Given the description of an element on the screen output the (x, y) to click on. 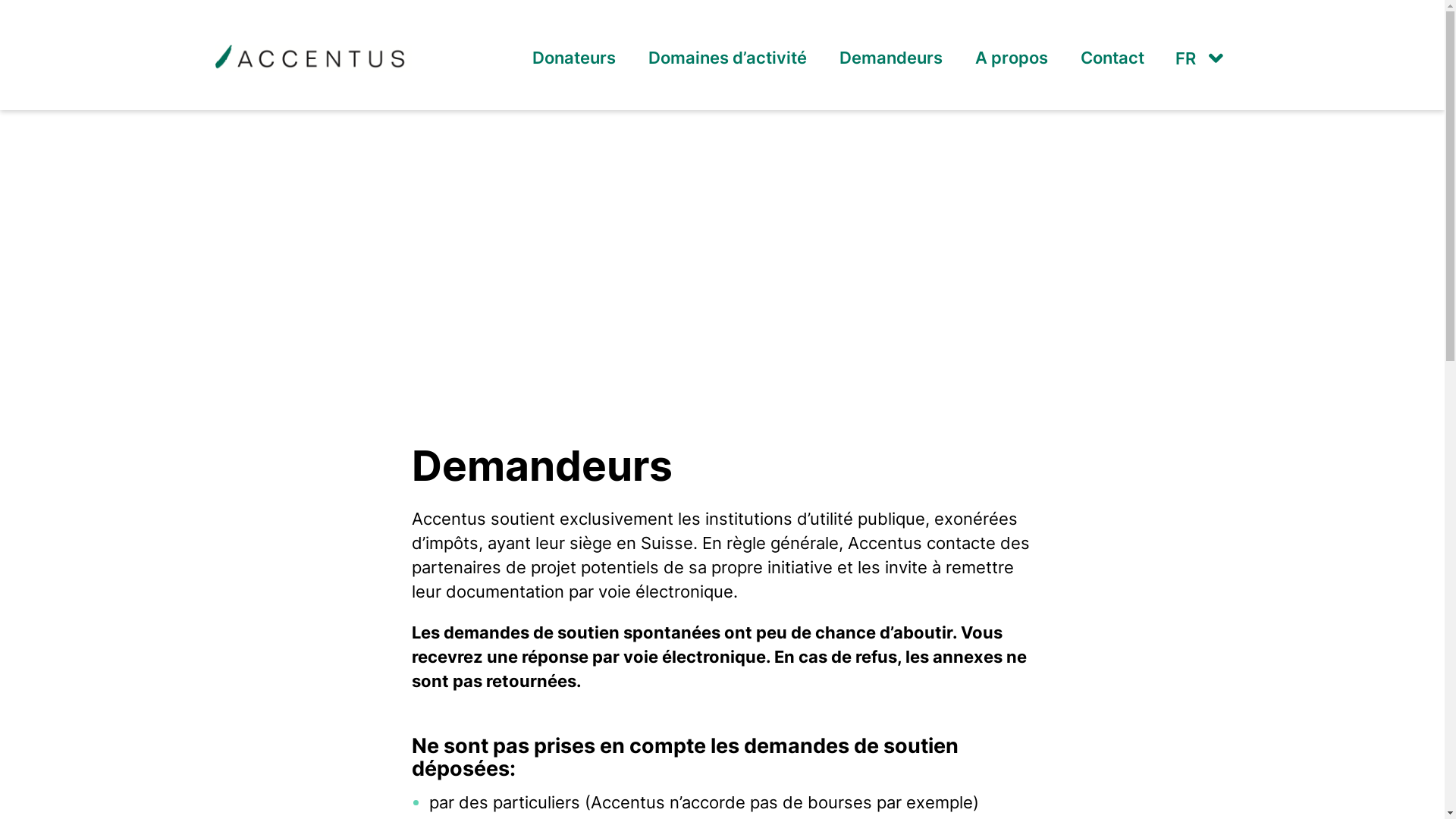
Demandeurs Element type: text (889, 57)
A propos Element type: text (1011, 57)
Contact Element type: text (1111, 57)
Donateurs Element type: text (573, 57)
Skip to content Element type: text (0, 0)
FR Element type: text (1196, 58)
